Given the description of an element on the screen output the (x, y) to click on. 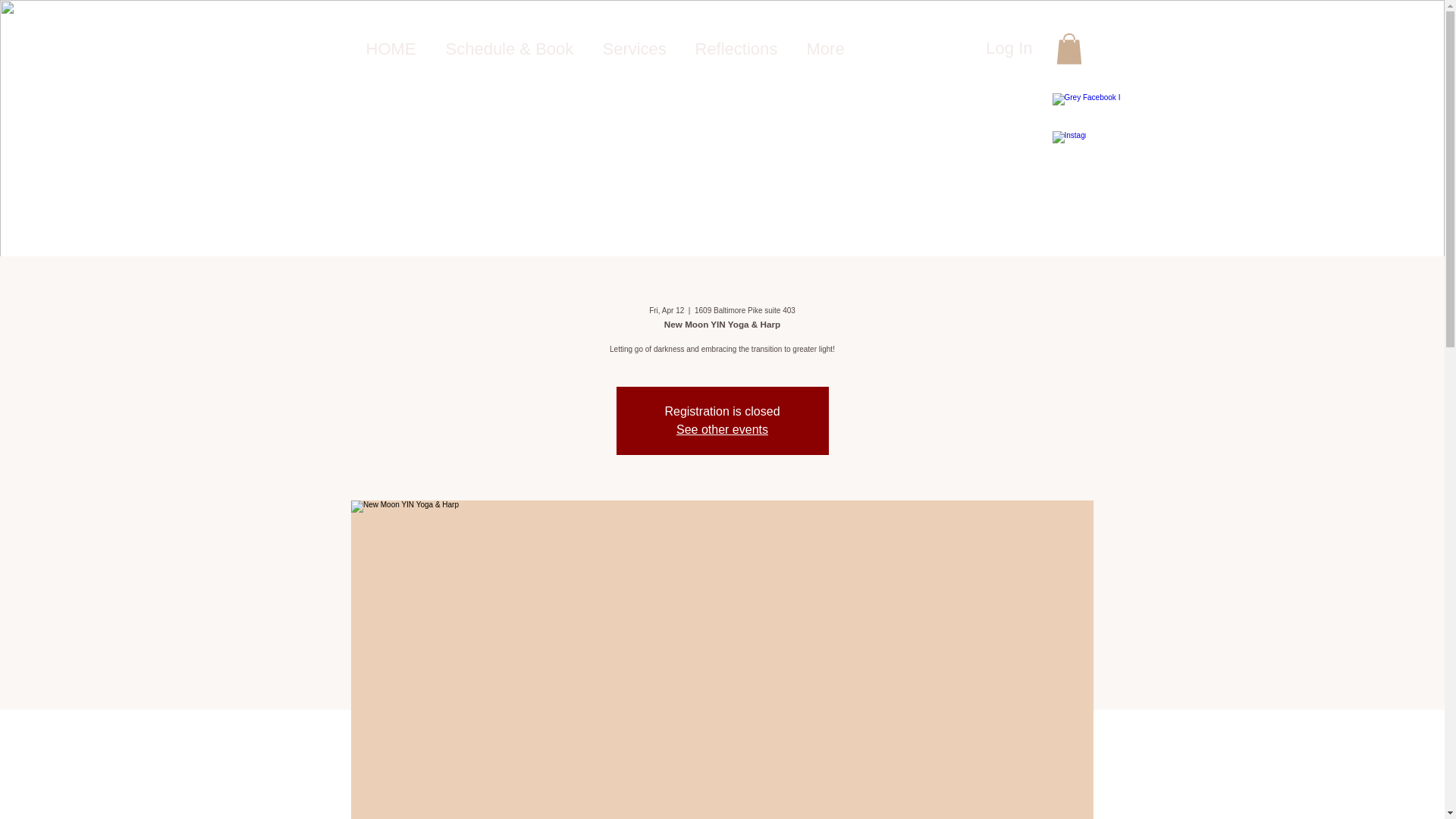
See other events (722, 429)
HOME (394, 48)
Log In (1008, 48)
